Given the description of an element on the screen output the (x, y) to click on. 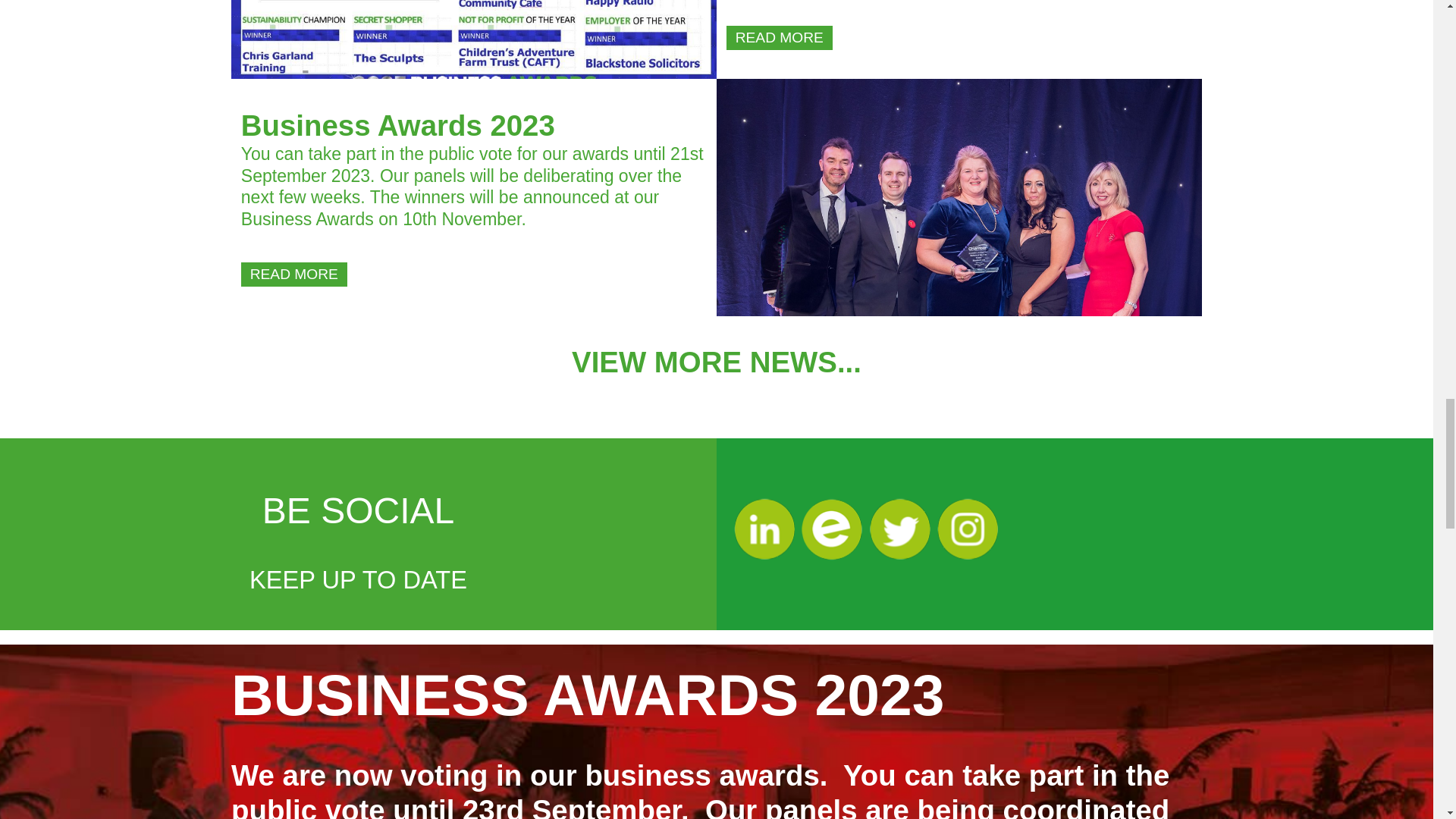
READ MORE (294, 274)
READ MORE (779, 37)
VIEW MORE NEWS... (716, 361)
READ MORE (779, 37)
READ MORE (294, 273)
